Given the description of an element on the screen output the (x, y) to click on. 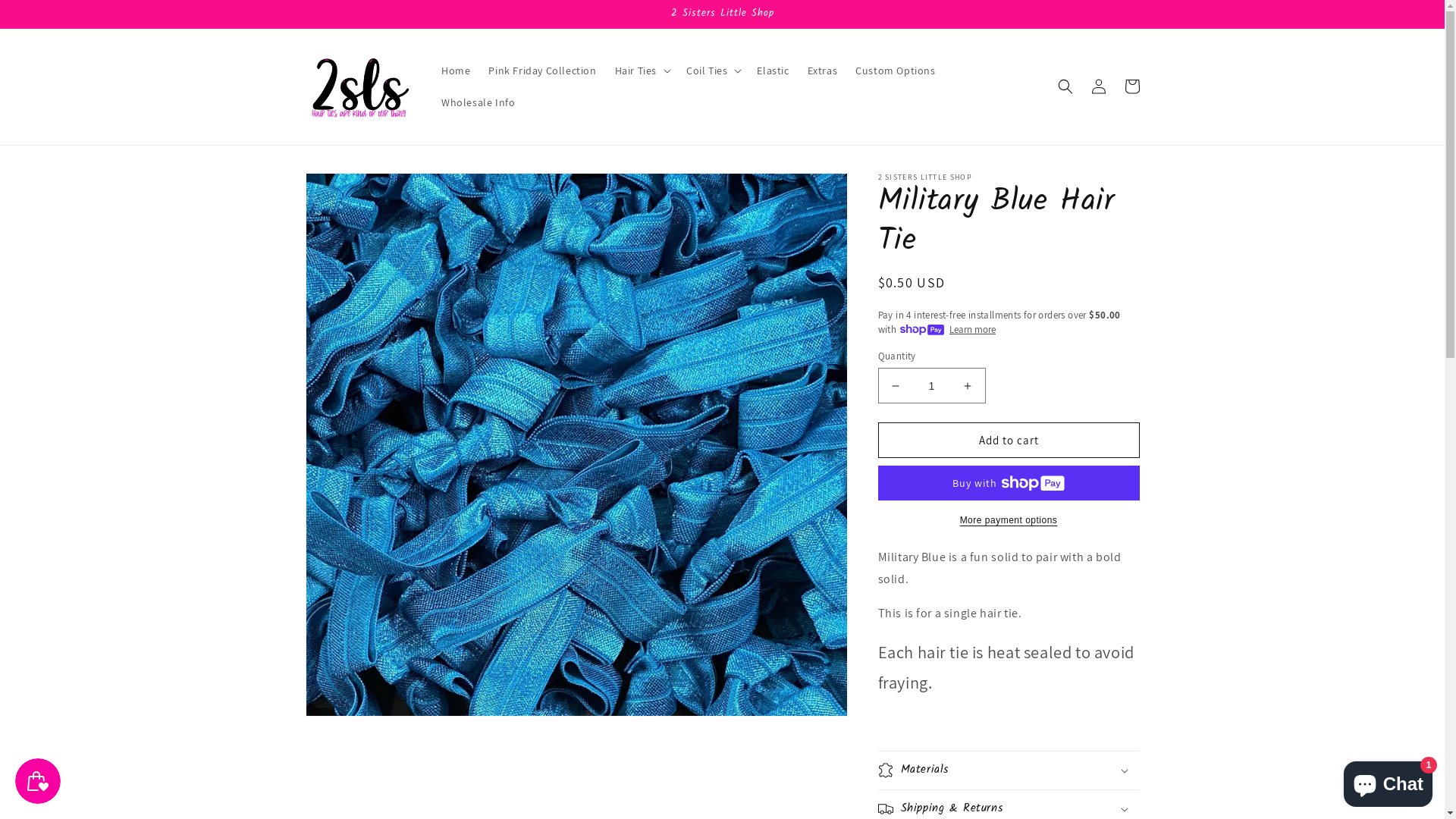
Elastic Element type: text (772, 70)
More payment options Element type: text (1008, 519)
Smile.io Rewards Program Launcher Element type: hover (37, 780)
Add to cart Element type: text (1008, 440)
Pink Friday Collection Element type: text (542, 70)
Decrease quantity for Military Blue Hair Tie Element type: text (895, 385)
Home Element type: text (455, 70)
Custom Options Element type: text (895, 70)
Shopify online store chat Element type: hover (1388, 780)
Cart Element type: text (1131, 86)
Log in Element type: text (1097, 86)
Wholesale Info Element type: text (478, 102)
Extras Element type: text (822, 70)
Increase quantity for Military Blue Hair Tie Element type: text (967, 385)
Skip to product information Element type: text (350, 189)
